Given the description of an element on the screen output the (x, y) to click on. 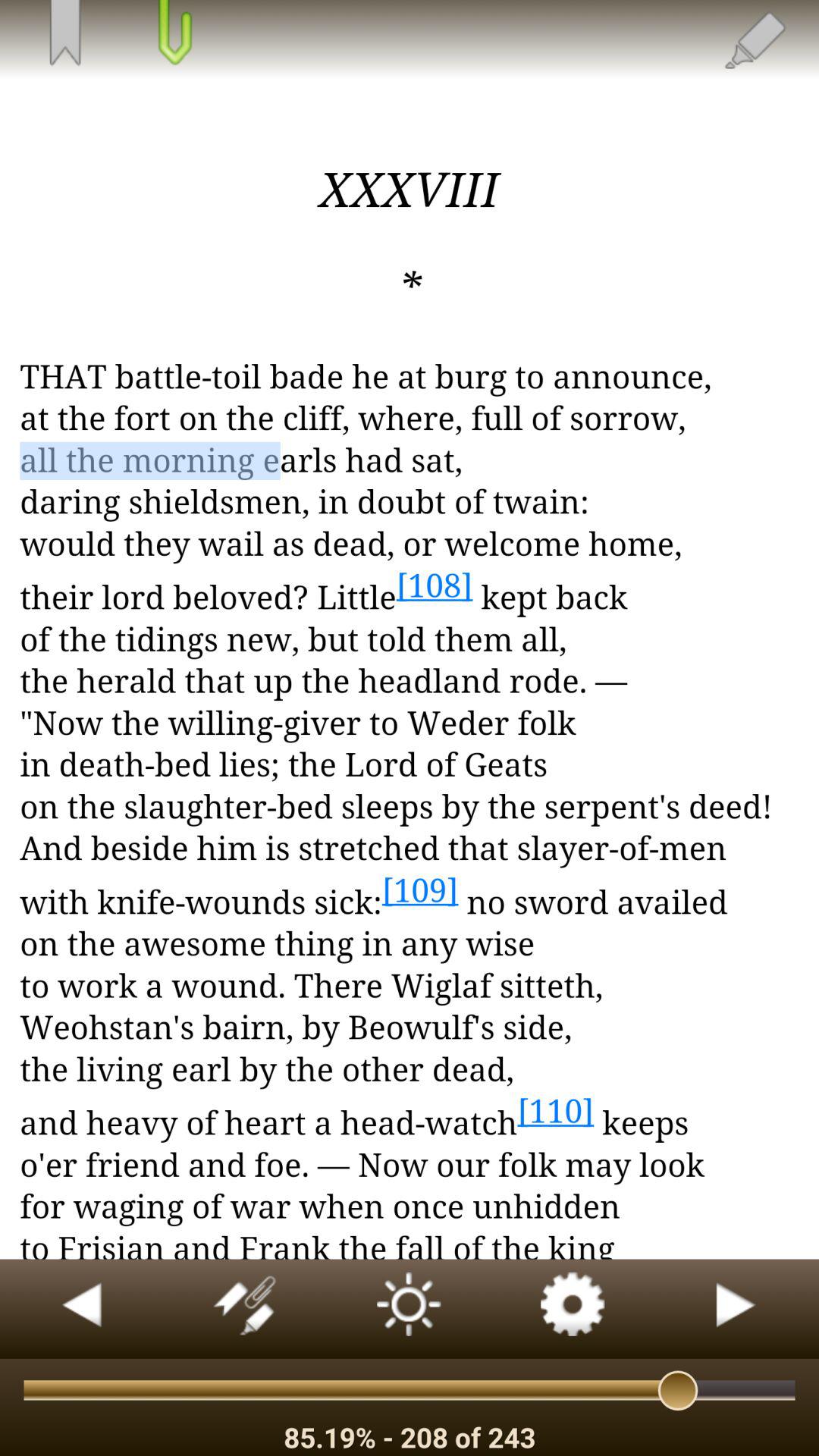
go to previous (81, 1308)
